Given the description of an element on the screen output the (x, y) to click on. 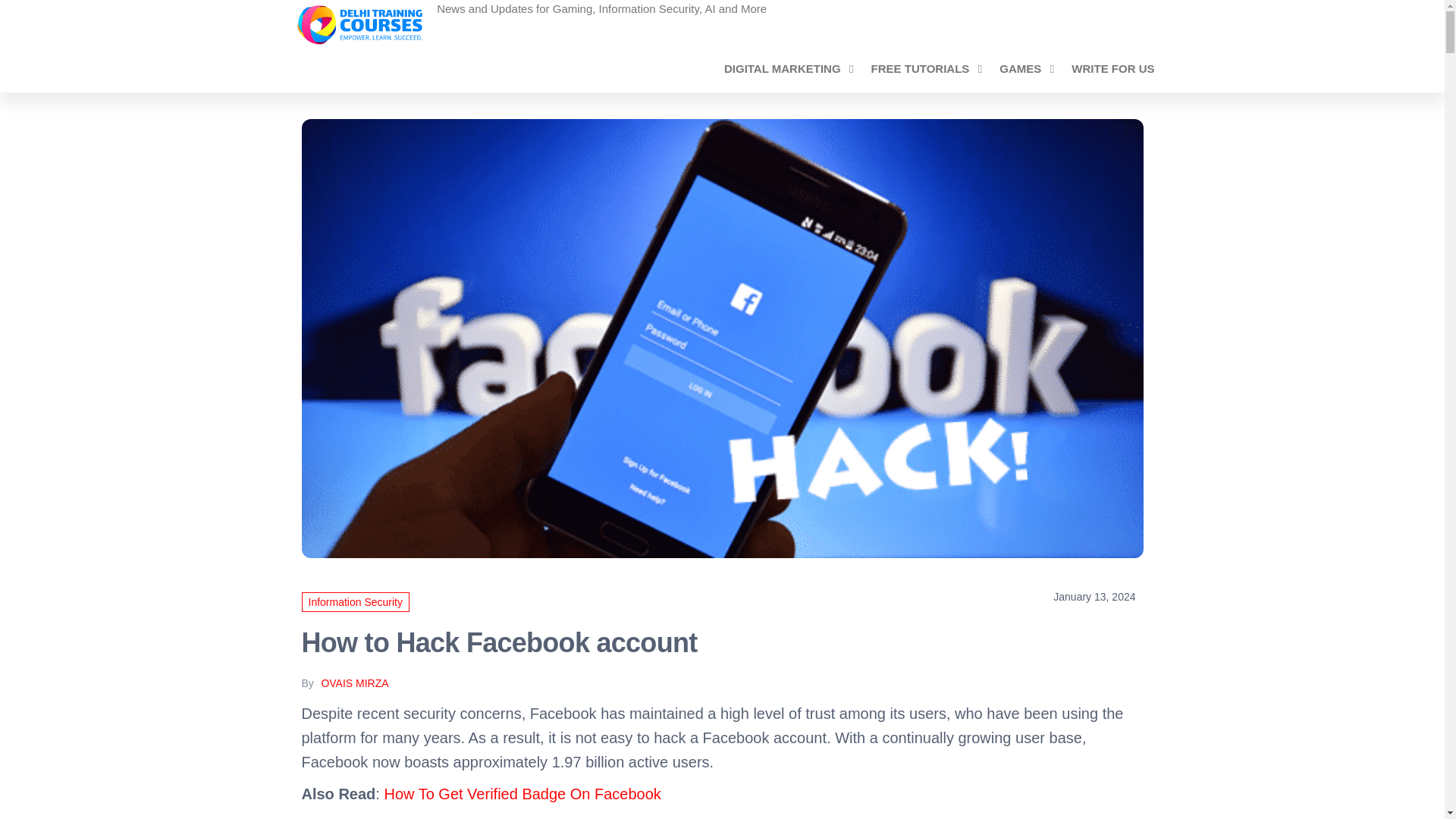
OVAIS MIRZA (354, 683)
Gaming News and Updates (568, 13)
WRITE FOR US (1112, 68)
FREE TUTORIALS (924, 68)
How To Get Verified Badge On Facebook (522, 793)
Free Tutorials (924, 68)
Digital Marketing (786, 68)
DIGITAL MARKETING (786, 68)
Information Security (355, 601)
GAMES (1023, 68)
